Given the description of an element on the screen output the (x, y) to click on. 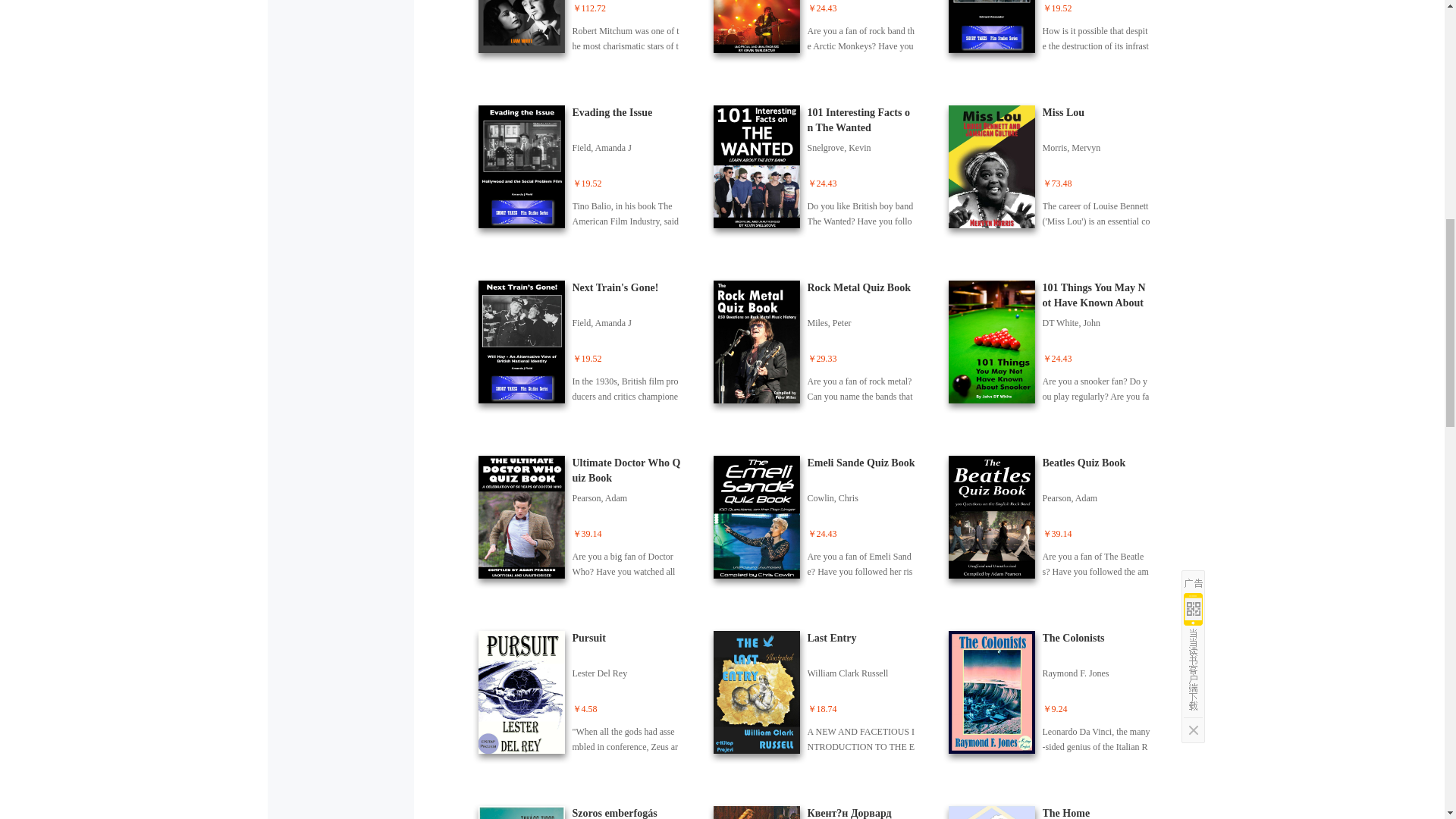
Miss Lou (1057, 170)
Dark Tourism of the Bosnian Screen (1057, 33)
101 Things You May Not Have Known About Snooker (1057, 345)
Mitchum, Mexico and the Good Neighbours Era (587, 33)
Rock Metal Quiz Book (822, 345)
Emeli Sande Quiz Book (822, 520)
Evading the Issue (587, 170)
101 Interesting Facts on Arctic Monkeys (822, 33)
Ultimate Doctor Who Quiz Book (587, 520)
101 Interesting Facts on The Wanted (822, 170)
